Given the description of an element on the screen output the (x, y) to click on. 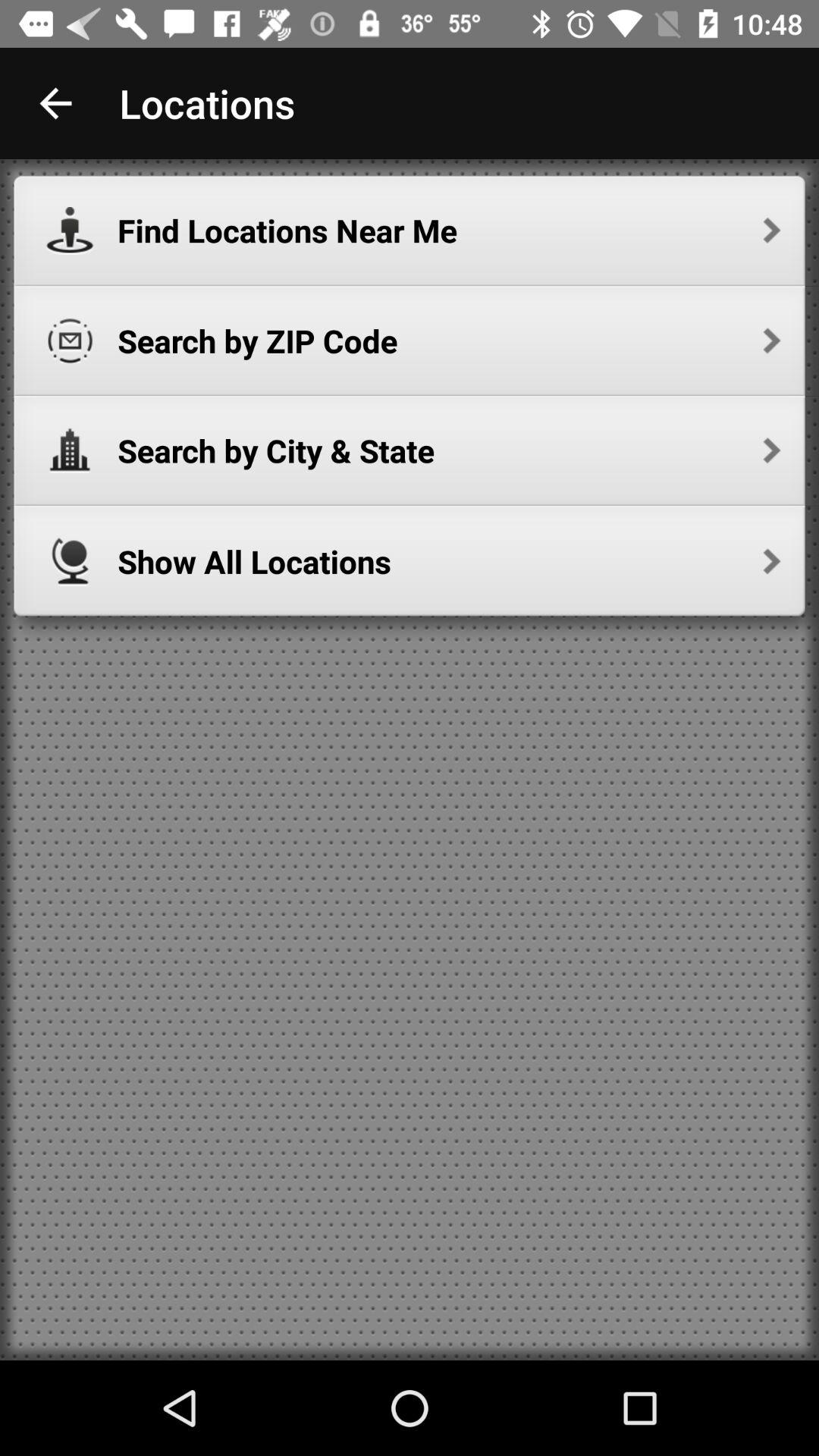
click show all locations icon (448, 561)
